Given the description of an element on the screen output the (x, y) to click on. 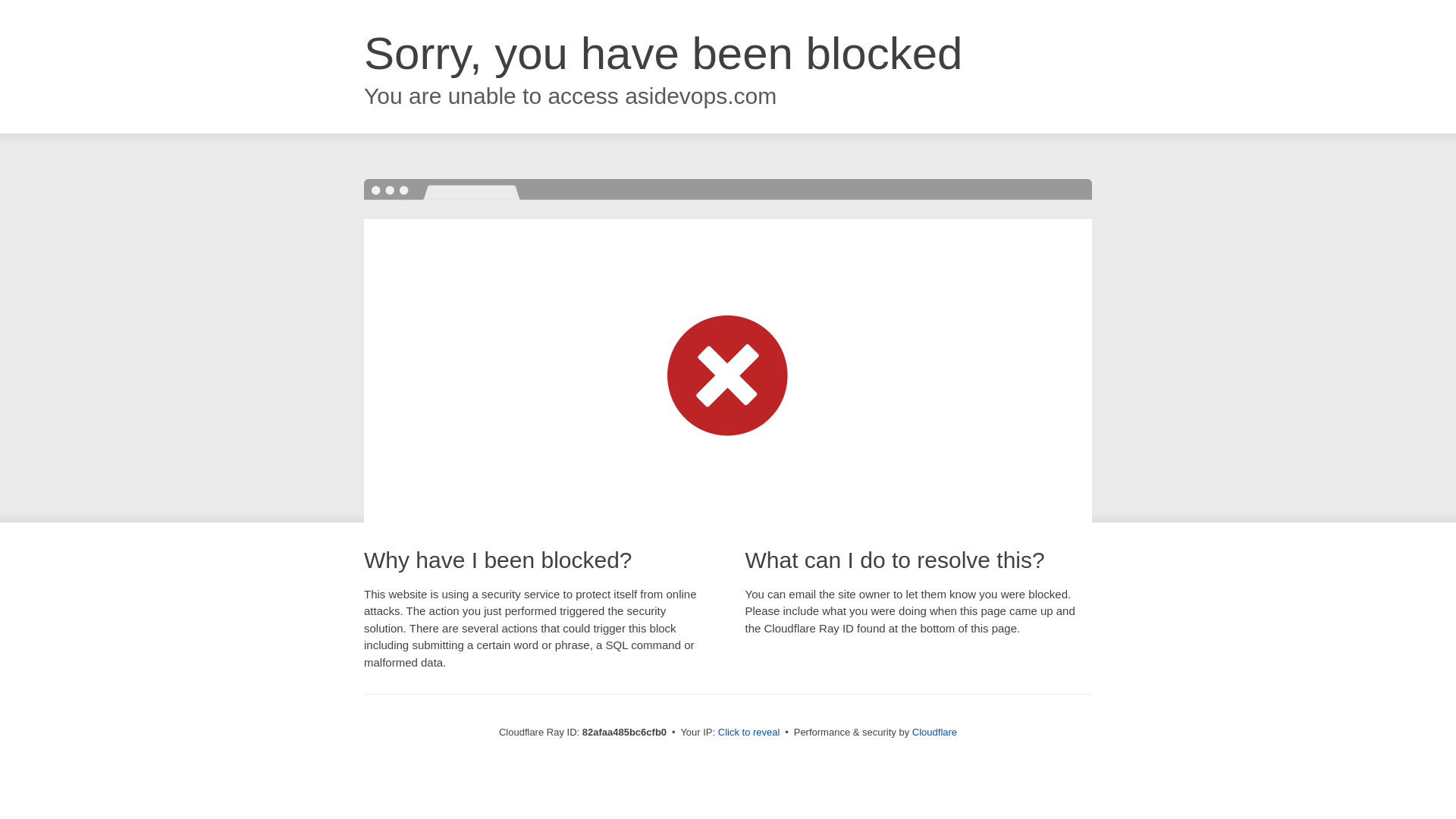
Click to reveal Element type: text (749, 732)
Cloudflare Element type: text (934, 731)
